Given the description of an element on the screen output the (x, y) to click on. 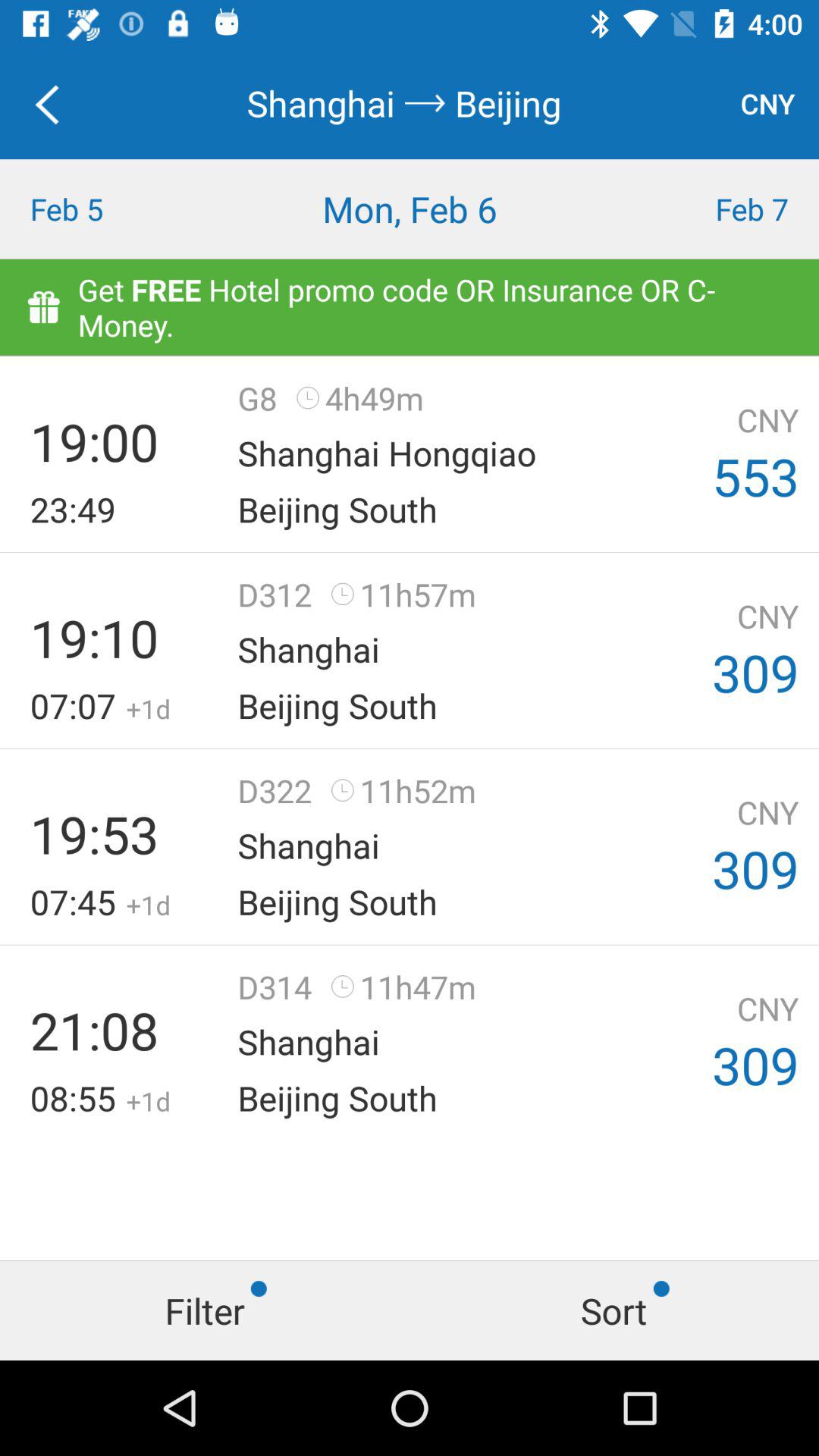
choose the icon to the right of the feb 5 (409, 208)
